Given the description of an element on the screen output the (x, y) to click on. 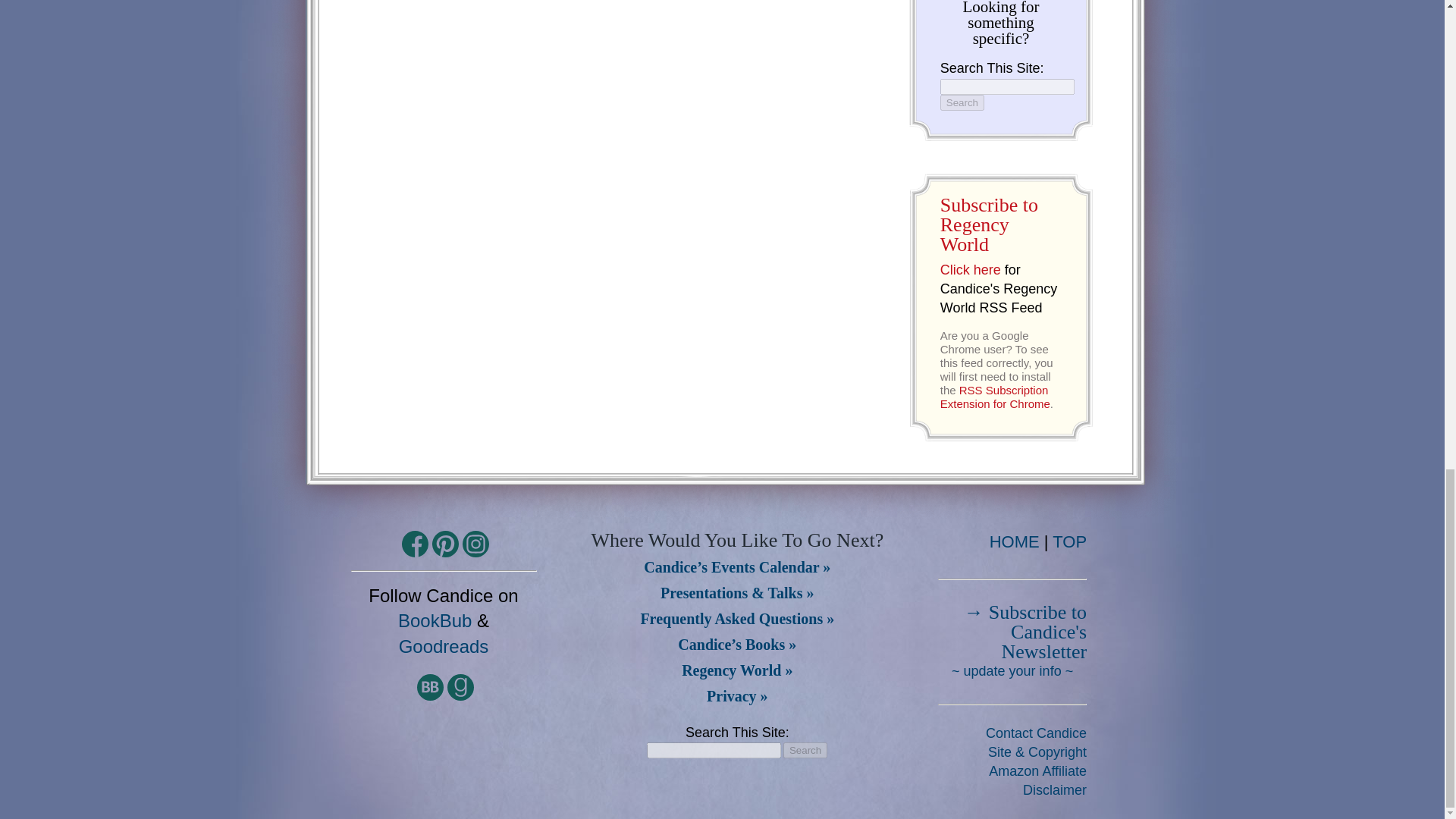
BookBub (434, 620)
Search (962, 102)
RSS Subscription Extension for Chrome (994, 397)
Search (805, 750)
Subscribe to Regency World (989, 224)
Goodreads (443, 646)
Search (962, 102)
Click here (970, 269)
